Given the description of an element on the screen output the (x, y) to click on. 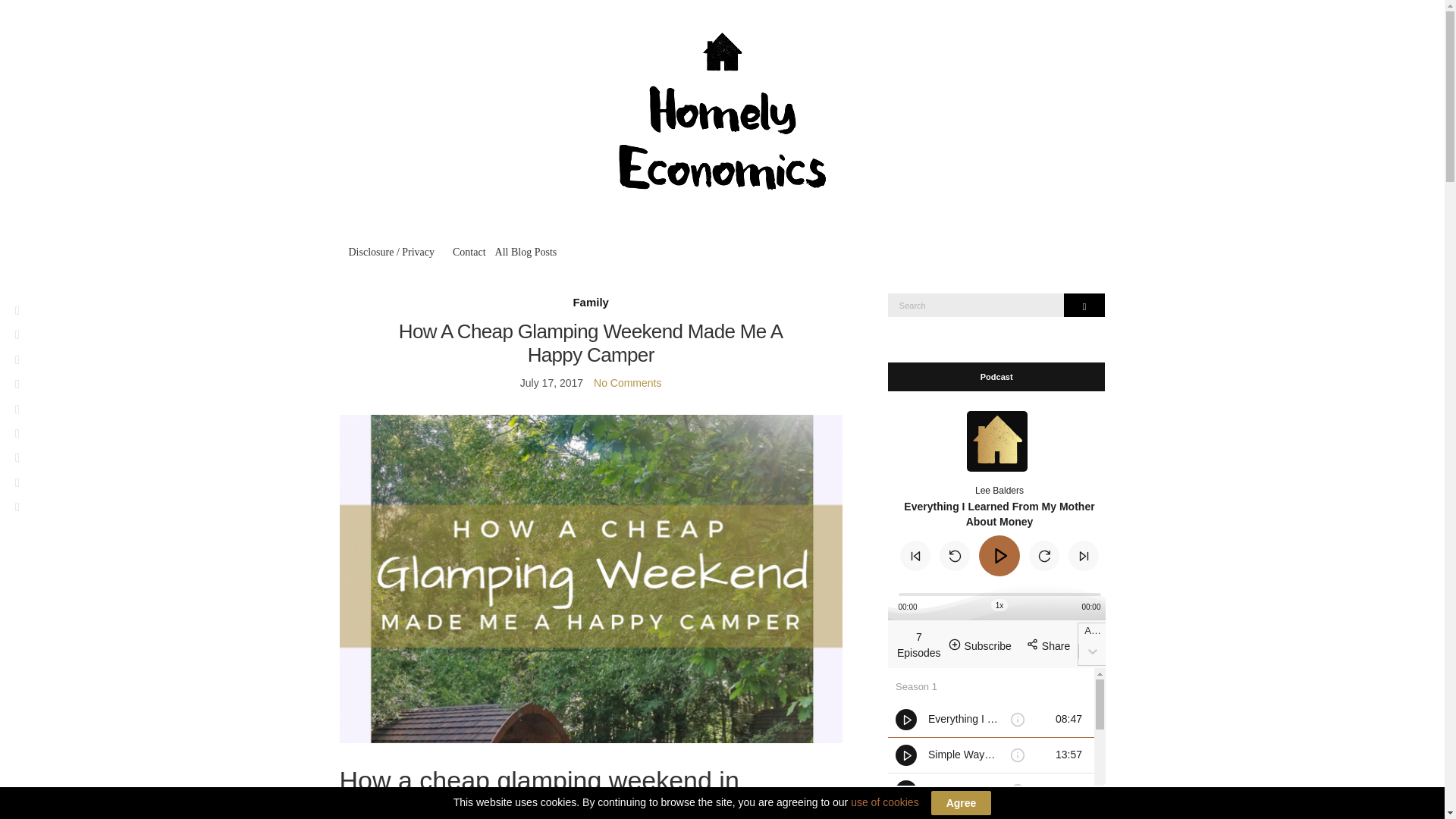
Contact (469, 252)
Family (590, 302)
All Blog Posts (526, 252)
No Comments (627, 382)
Search (1084, 304)
